Given the description of an element on the screen output the (x, y) to click on. 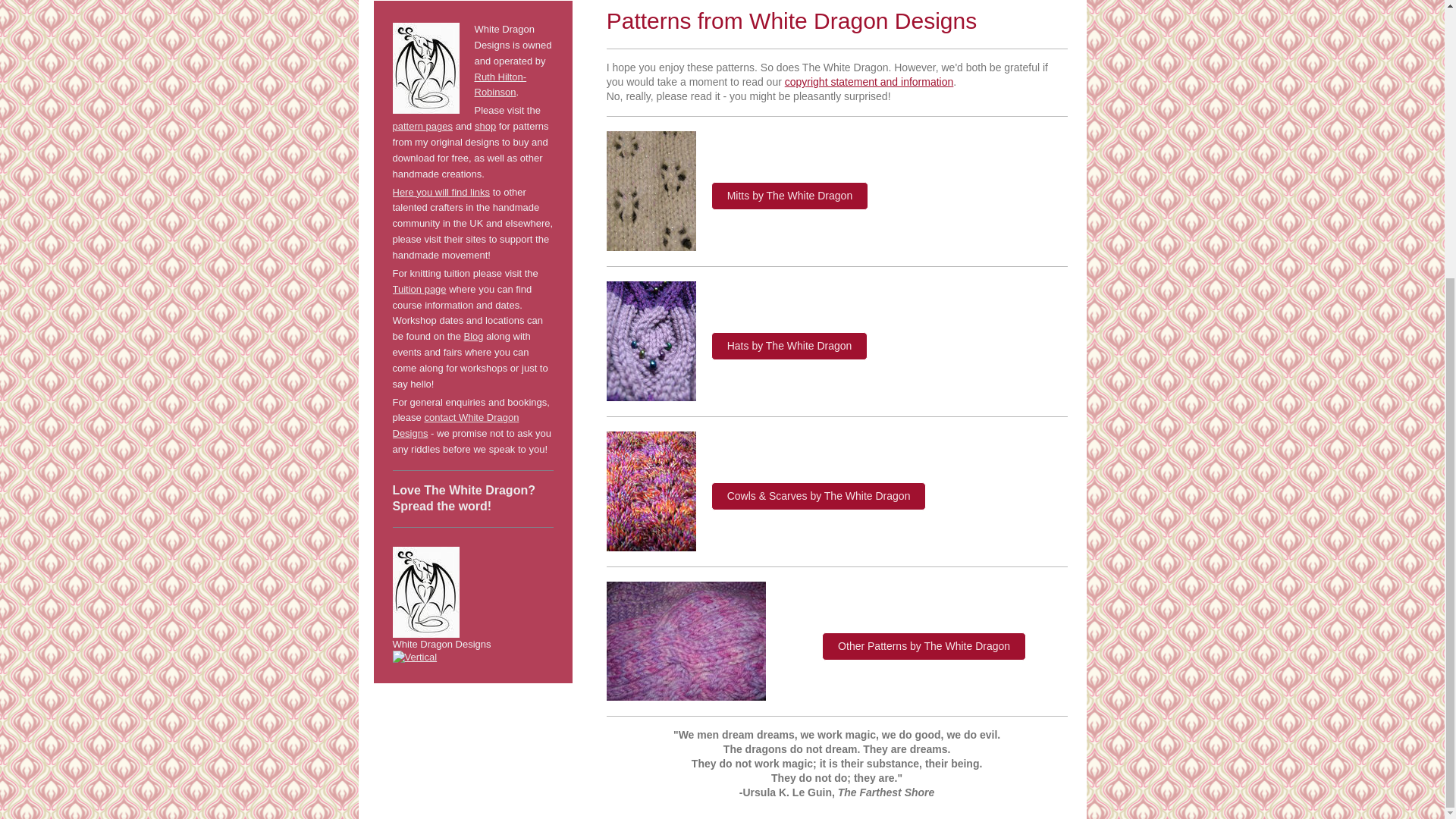
Mitts by The White Dragon (789, 195)
Hats by The White Dragon (789, 346)
copyright statement and information (868, 81)
shop (485, 125)
Ruth Hilton-Robinson (500, 84)
Tuition page (419, 288)
Other Patterns by The White Dragon (924, 646)
Here you will find links (441, 192)
Vertical (473, 657)
Blog (473, 336)
